Given the description of an element on the screen output the (x, y) to click on. 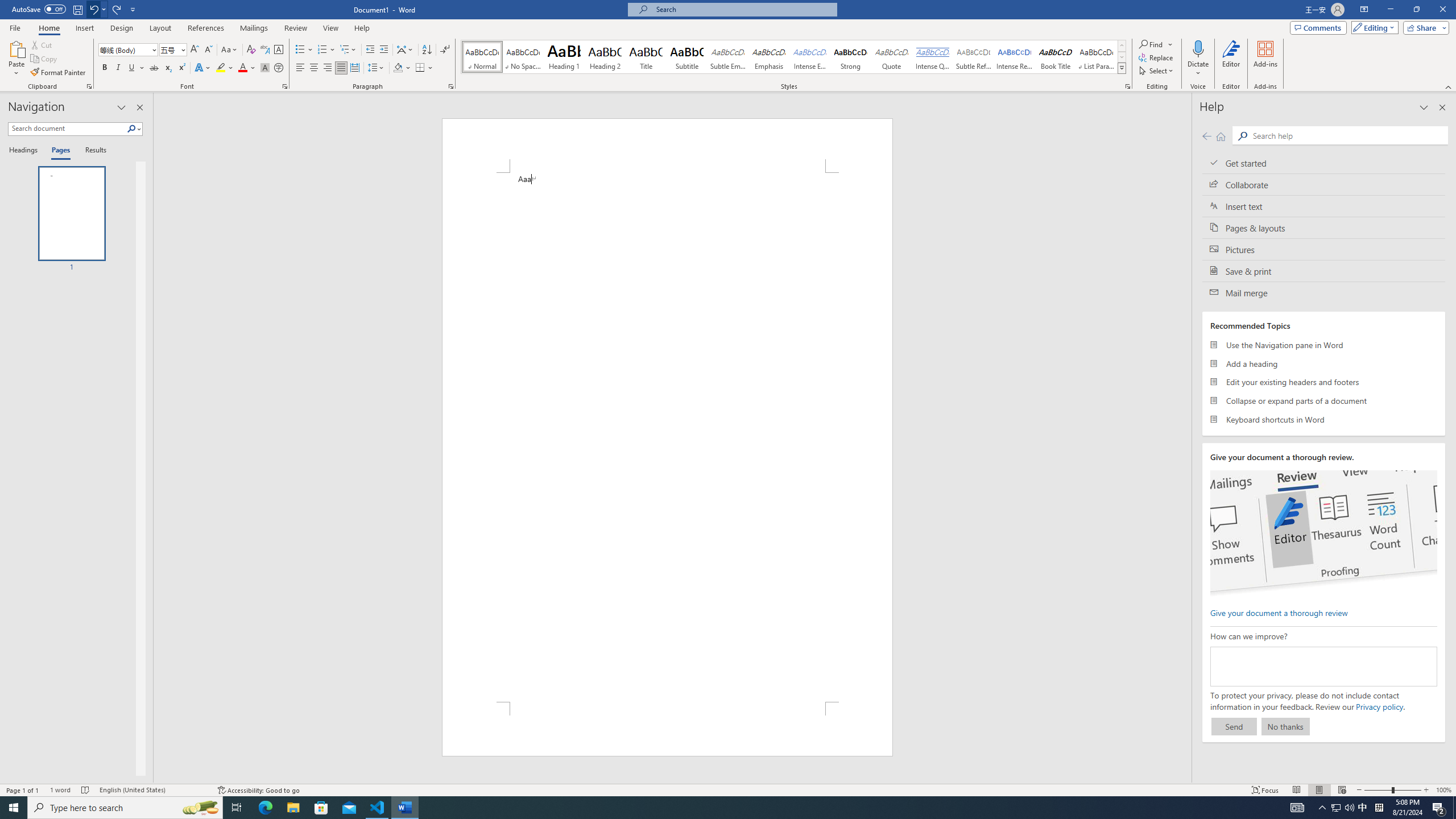
Design (122, 28)
Justify (340, 67)
Zoom 100% (1443, 790)
Styles (1121, 67)
How can we improve? (1323, 666)
AutoSave (38, 9)
Text Effects and Typography (202, 67)
Subtle Emphasis (727, 56)
Collaborate (1323, 184)
Row up (1121, 45)
Text Highlight Color (224, 67)
Review (295, 28)
